Given the description of an element on the screen output the (x, y) to click on. 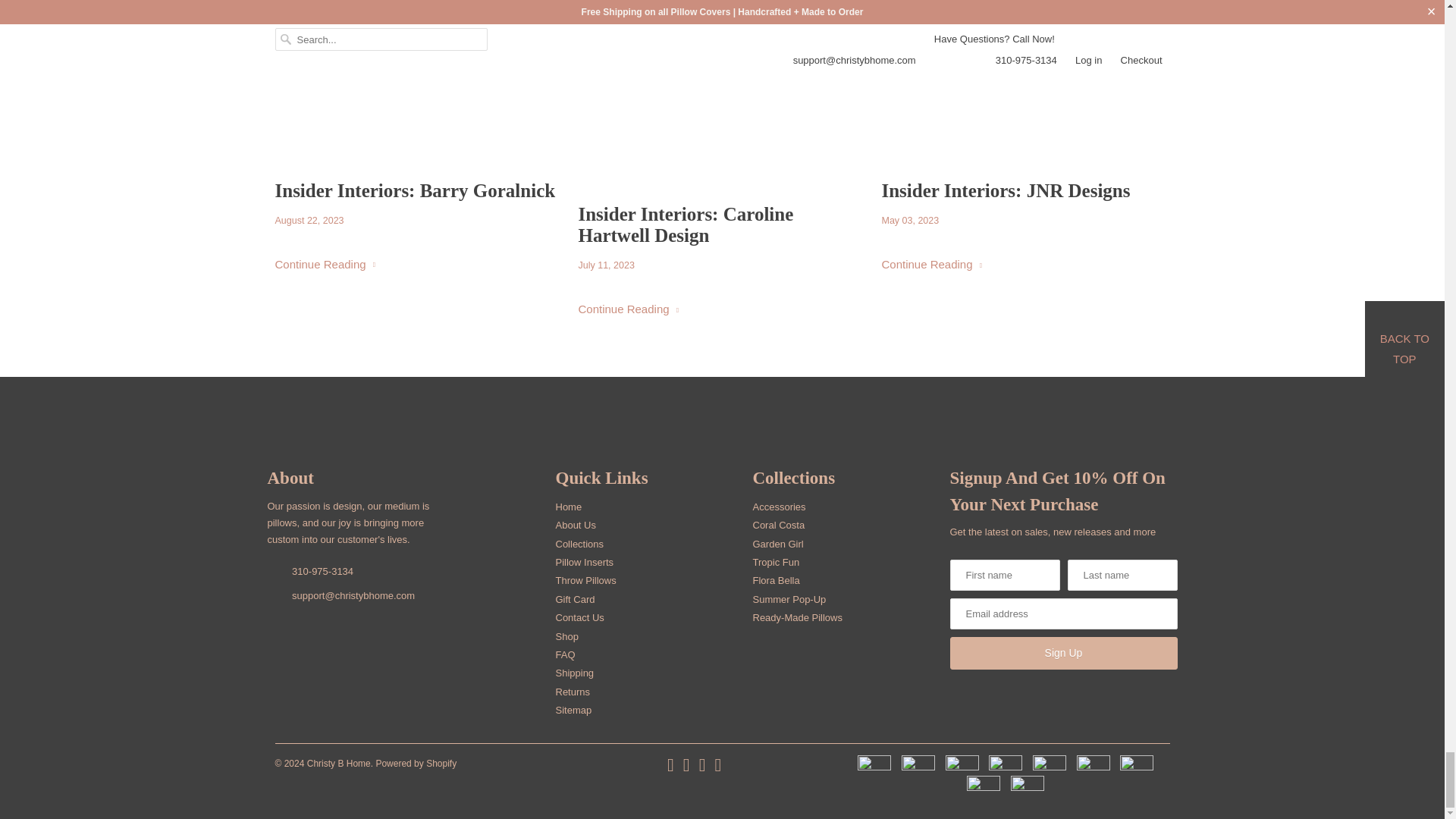
Insider Interiors:  Barry Goralnick (325, 264)
Sign Up (1062, 653)
Insider Interiors:  Barry Goralnick (418, 190)
Insider Interiors:  Barry Goralnick (418, 84)
